Given the description of an element on the screen output the (x, y) to click on. 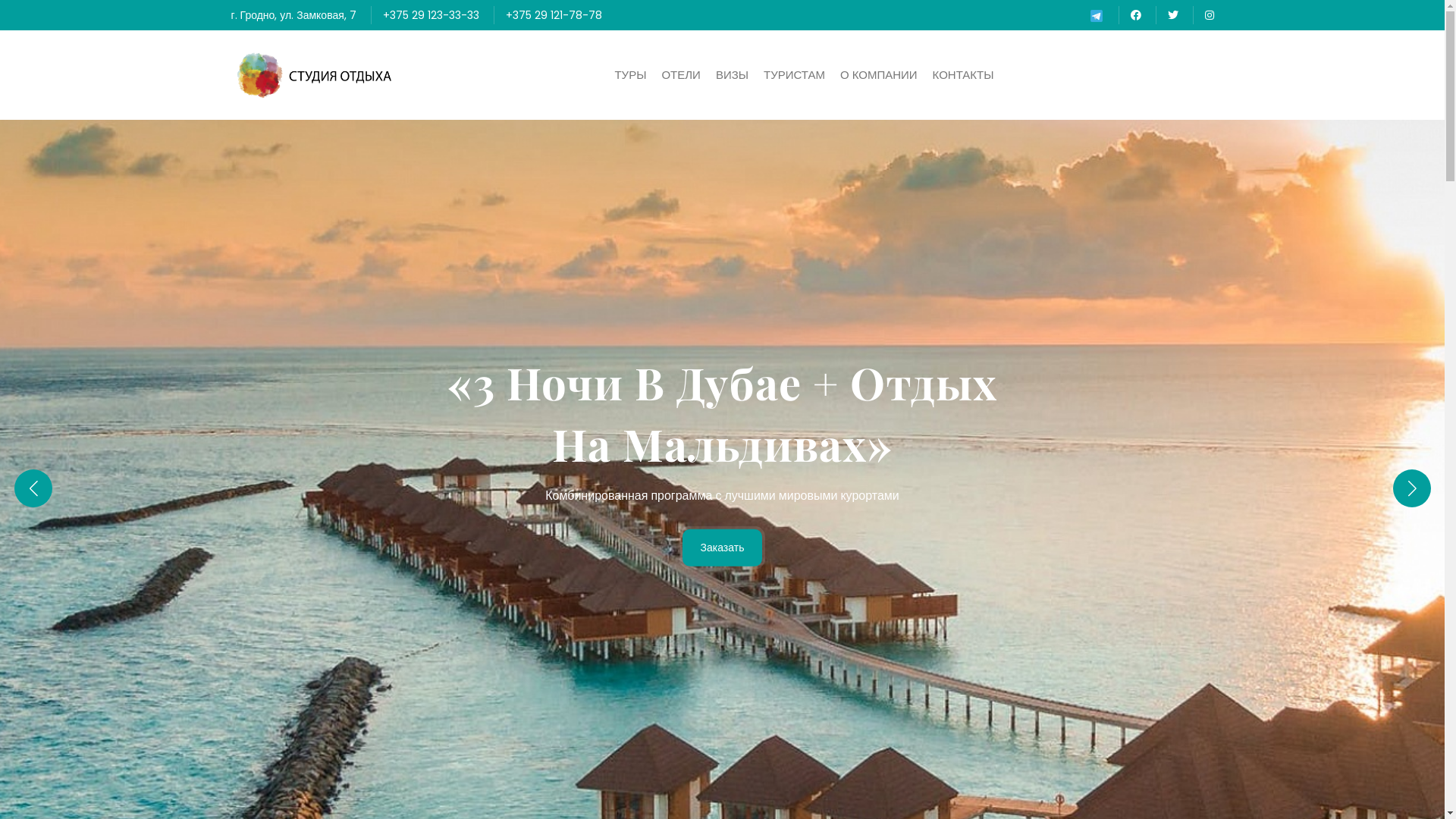
+375 29 121-78-78 Element type: text (553, 14)
+375 29 123-33-33 Element type: text (430, 14)
